Given the description of an element on the screen output the (x, y) to click on. 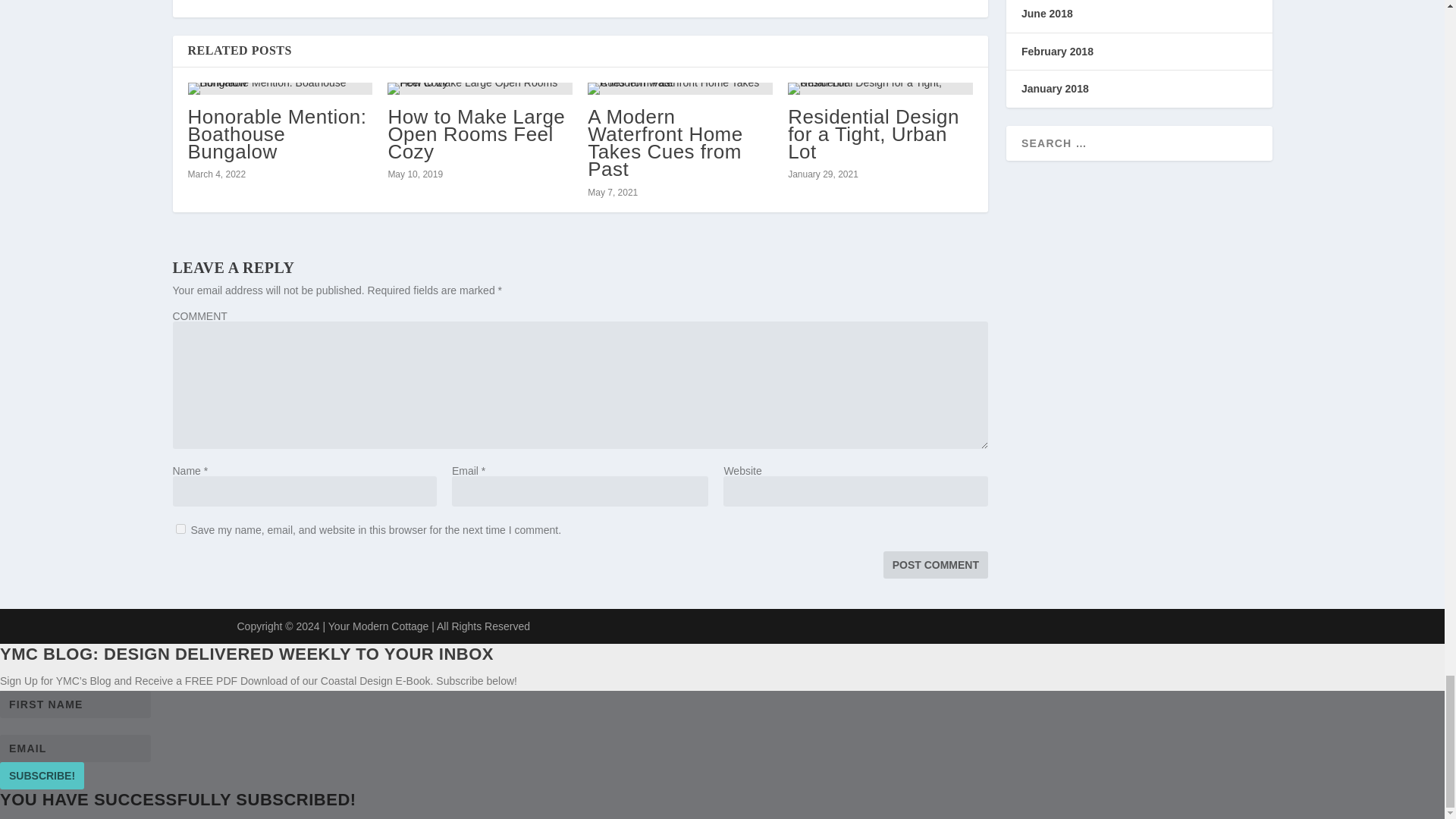
Honorable Mention: Boathouse Bungalow (276, 133)
Post Comment (935, 564)
yes (181, 528)
How to Make Large Open Rooms Feel Cozy (475, 133)
